Given the description of an element on the screen output the (x, y) to click on. 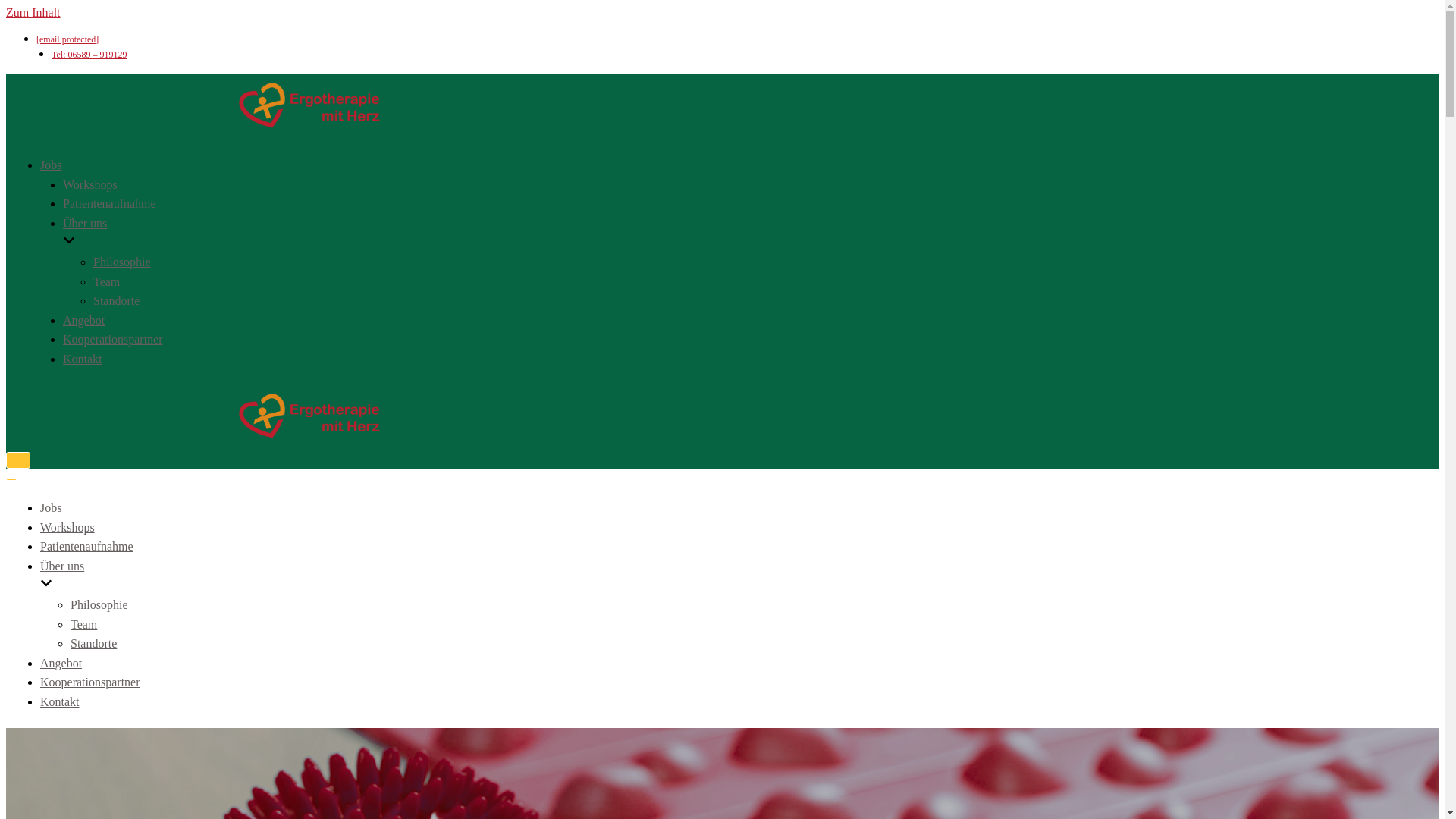
Workshops (89, 184)
Standorte (92, 643)
Angebot (60, 662)
Philosophie (122, 261)
Kontakt (81, 358)
Zum Inhalt (33, 11)
Kontakt (60, 701)
Jobs (50, 507)
Kooperationspartner (89, 681)
Jobs (50, 164)
Patientenaufnahme (108, 203)
Navigation umschalten (17, 460)
Team (106, 281)
Workshops (67, 526)
Angebot (83, 319)
